Given the description of an element on the screen output the (x, y) to click on. 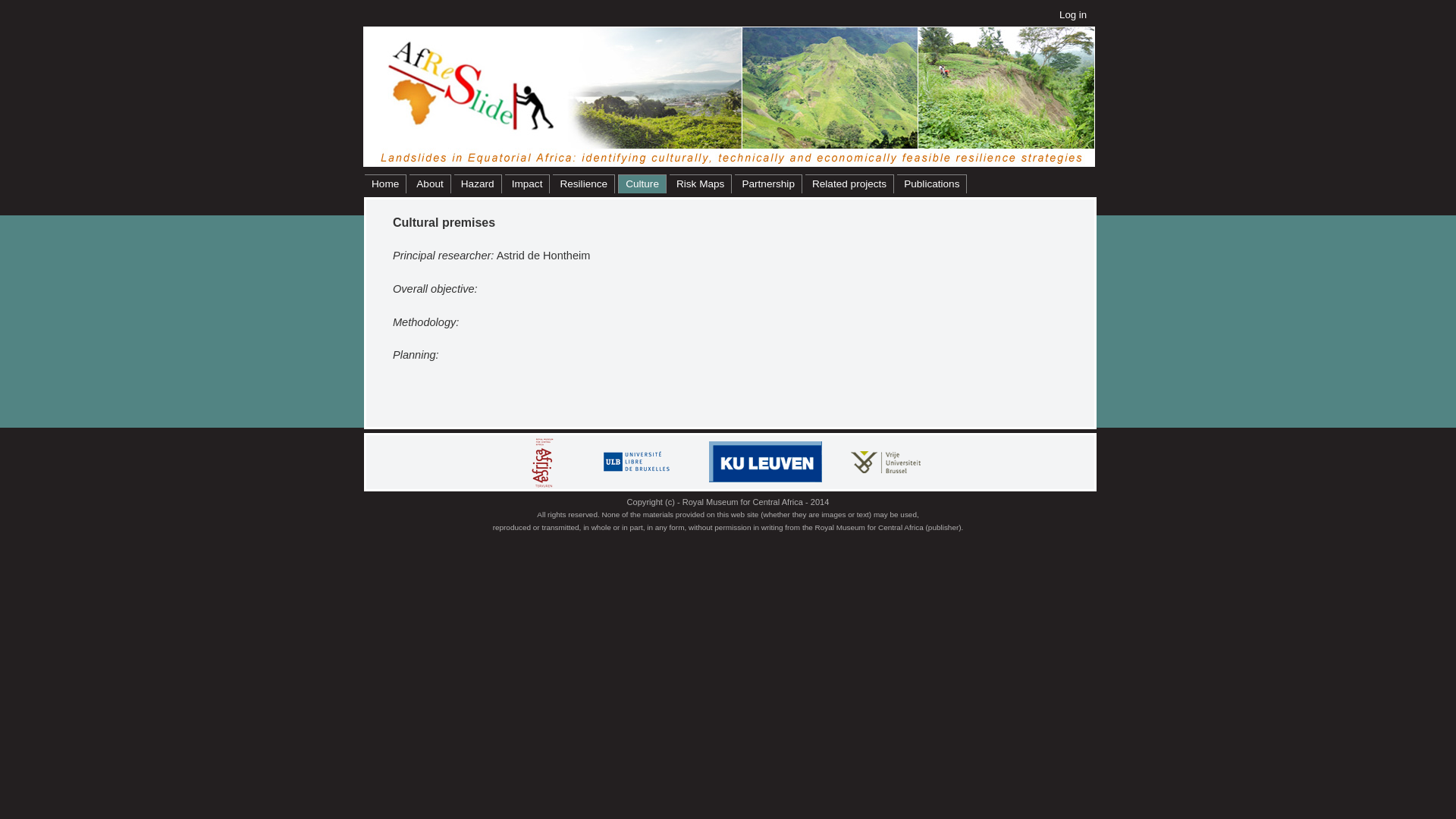
About Element type: text (430, 183)
Skip to main content Element type: text (697, 1)
Resilience Element type: text (583, 183)
Log in Element type: text (1072, 14)
Risk Maps Element type: text (700, 183)
Hazard Element type: text (478, 183)
Impact Element type: text (527, 183)
Home Element type: text (385, 183)
Publications Element type: text (931, 183)
Related projects Element type: text (849, 183)
Culture Element type: text (642, 183)
Partnership Element type: text (768, 183)
